Given the description of an element on the screen output the (x, y) to click on. 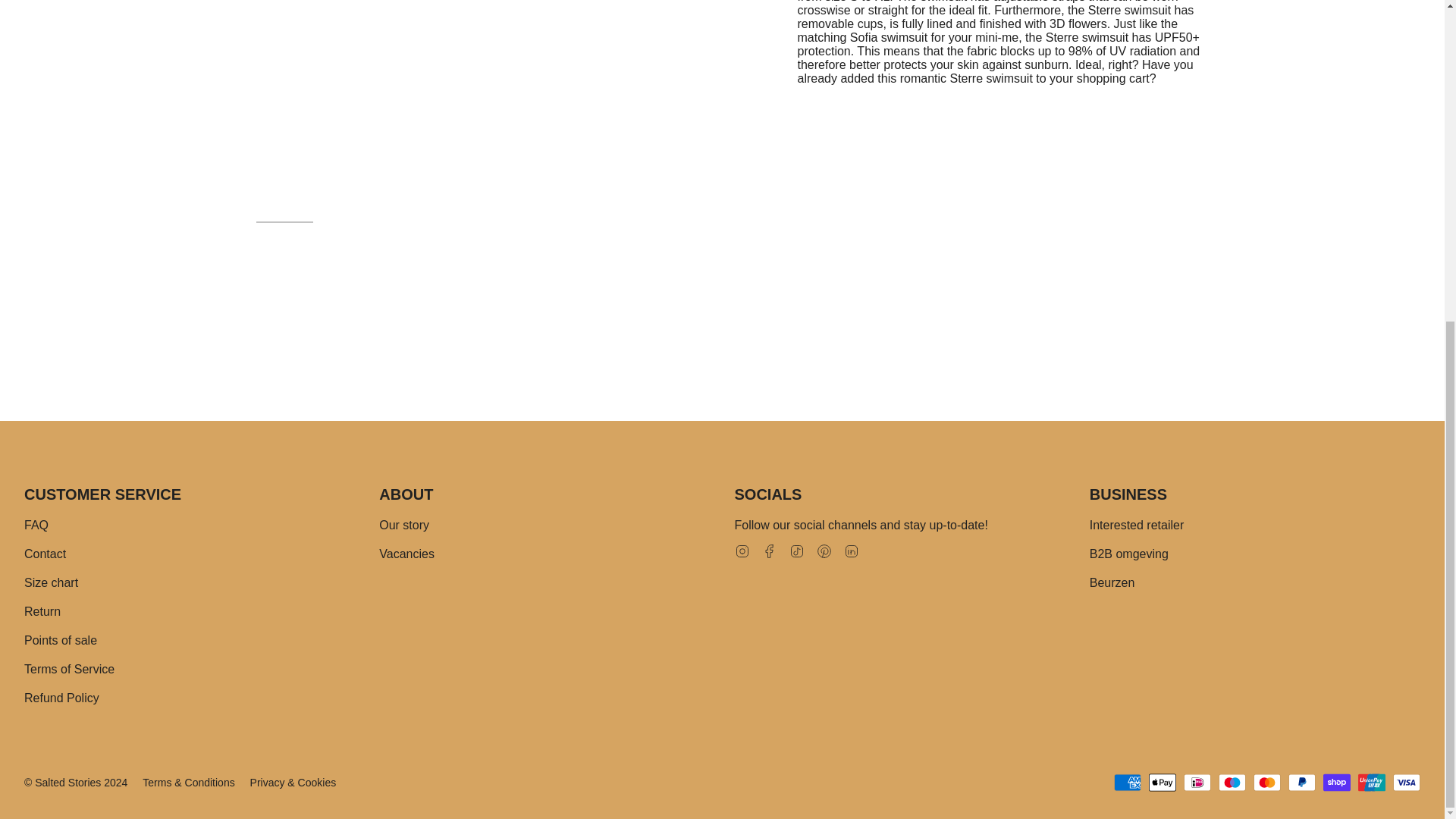
Salted Stories on TikTok (796, 549)
Salted Stories on Facebook (768, 549)
Salted Stories on Instagram (741, 549)
Salted Stories on Pinterest (823, 549)
Salted Stories on Linkedin (851, 549)
